Given the description of an element on the screen output the (x, y) to click on. 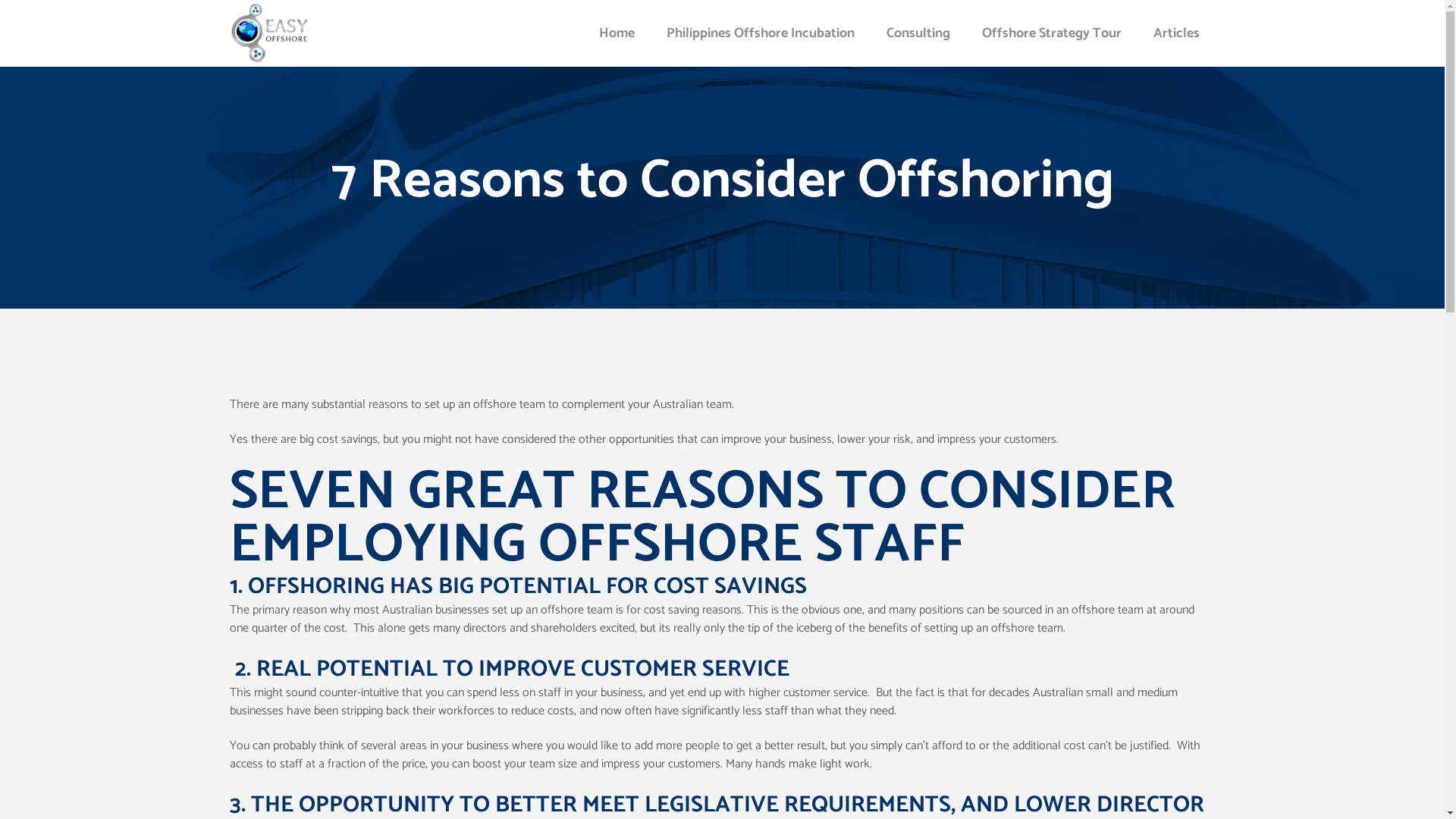
Home Element type: text (615, 33)
Consulting Element type: text (918, 33)
Philippines Offshore Incubation Element type: text (760, 33)
Articles Element type: text (1176, 33)
Offshore Strategy Tour Element type: text (1051, 33)
